Given the description of an element on the screen output the (x, y) to click on. 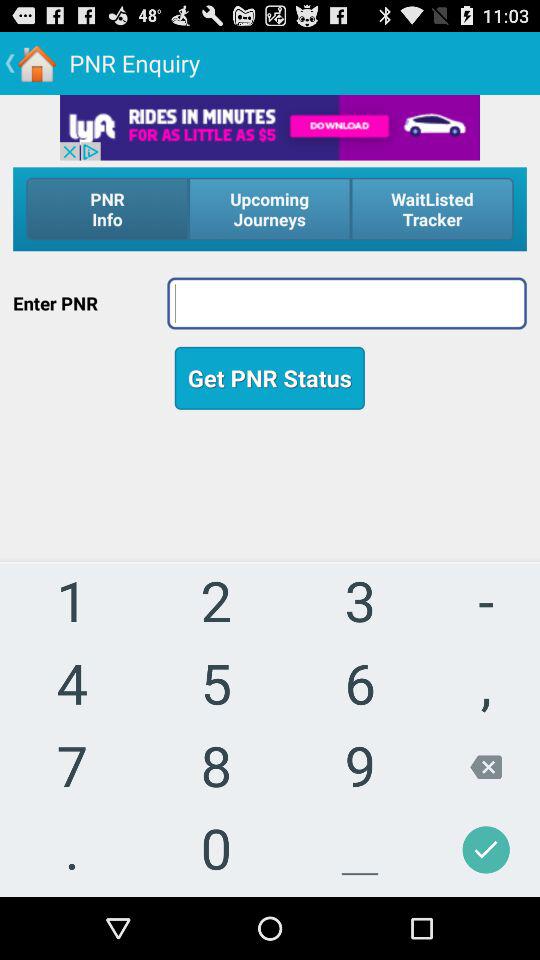
advertisement image (270, 127)
